Given the description of an element on the screen output the (x, y) to click on. 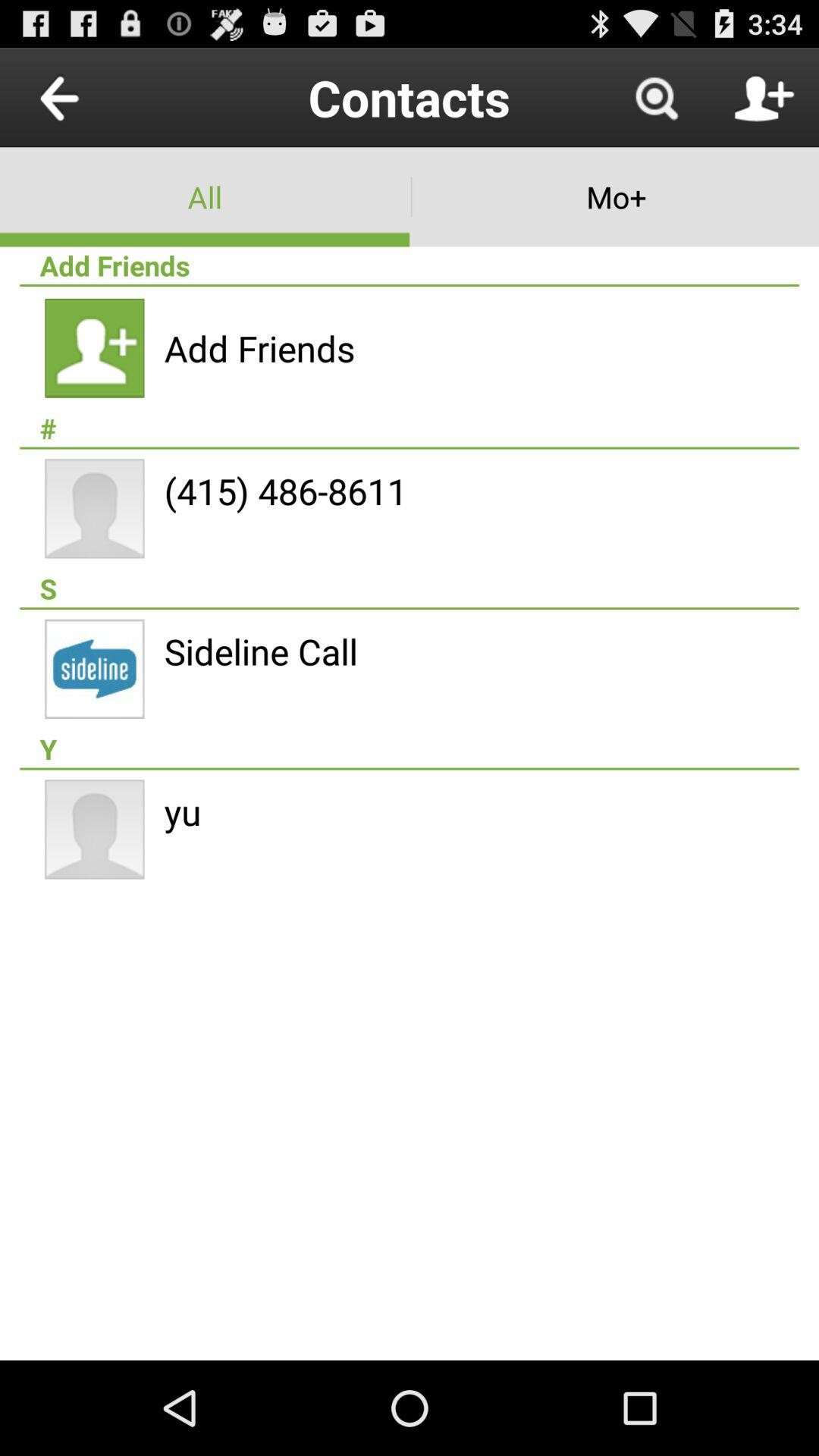
jump until all icon (204, 196)
